Given the description of an element on the screen output the (x, y) to click on. 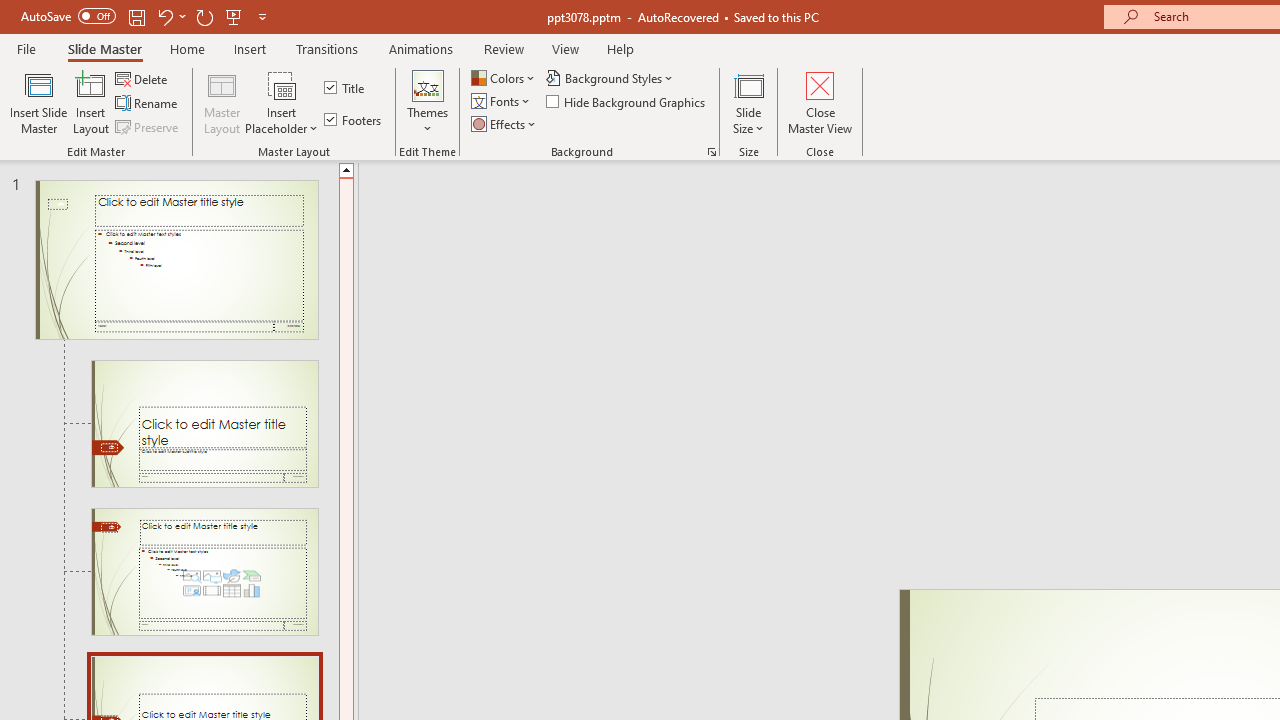
Slide Master (104, 48)
Footers (354, 119)
Slide Title and Content Layout: used by no slides (204, 572)
Master Layout... (221, 102)
Effects (505, 124)
